Given the description of an element on the screen output the (x, y) to click on. 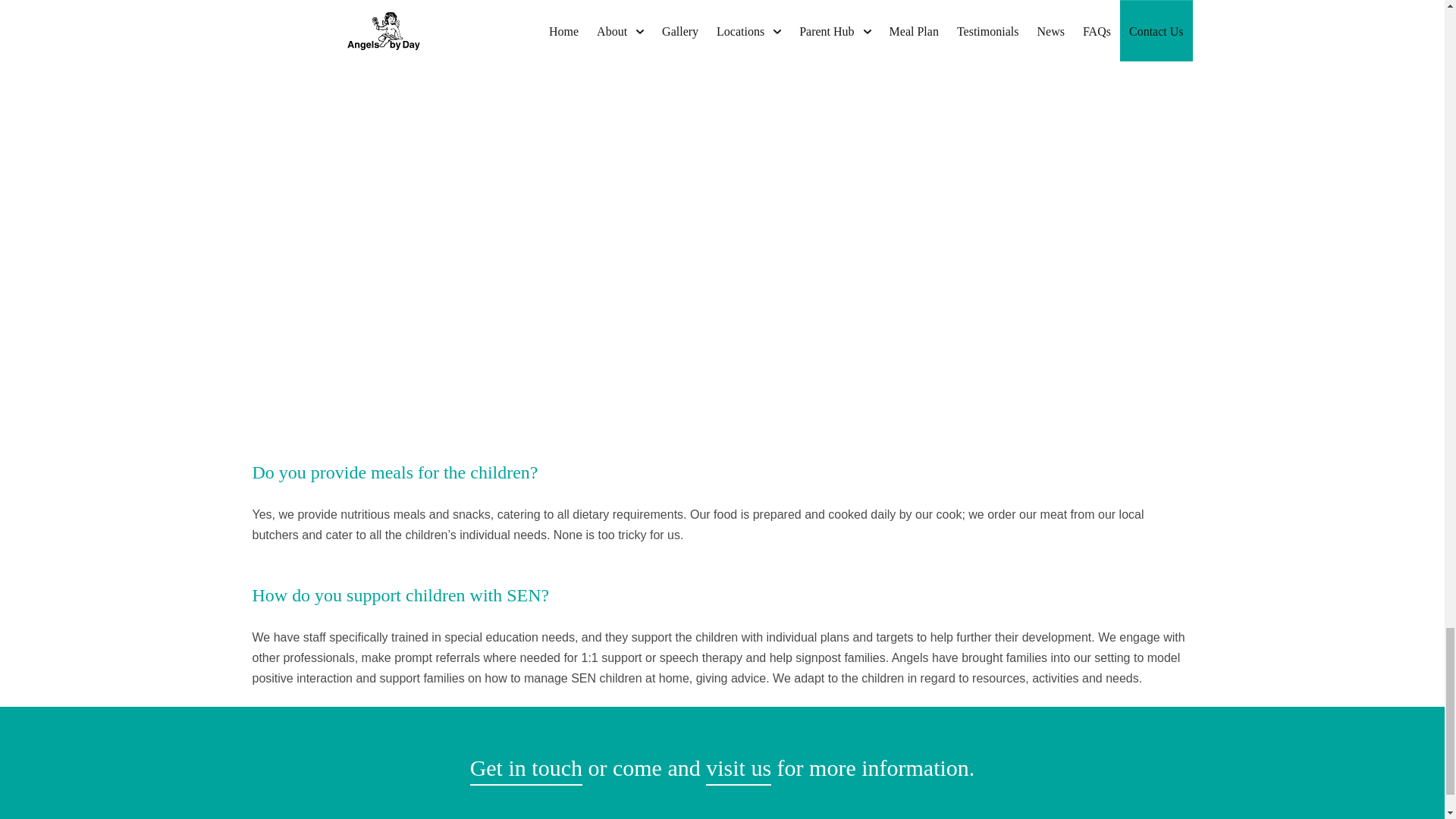
visit us (738, 767)
Get in touch (526, 767)
